Given the description of an element on the screen output the (x, y) to click on. 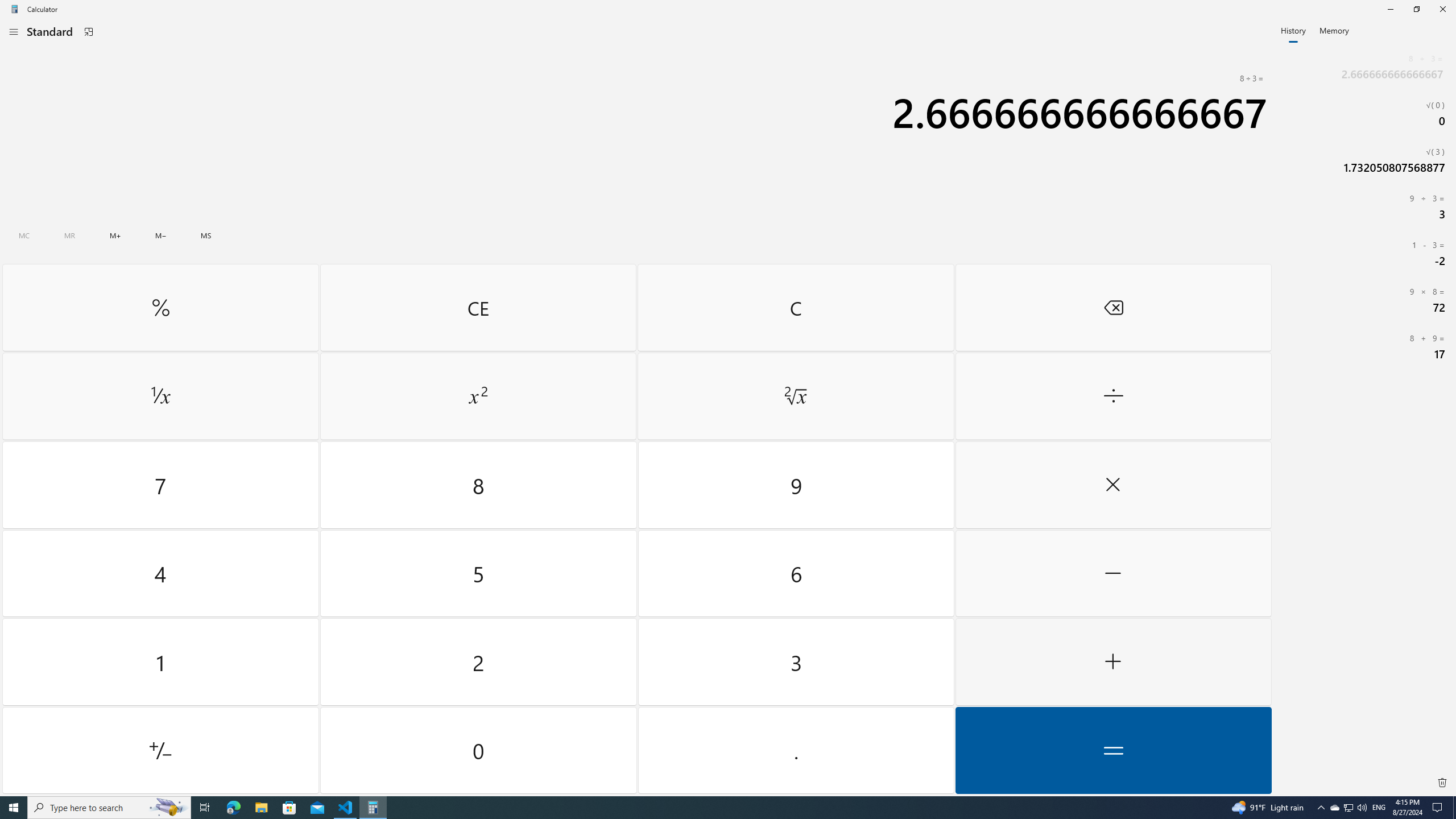
Seven (160, 485)
User Promoted Notification Area (1347, 807)
Open Navigation (13, 31)
Square root (795, 396)
Three (795, 661)
Four (160, 572)
Two (478, 661)
Square (478, 396)
Clear all history (1441, 782)
Show desktop (1454, 807)
Microsoft Store (289, 807)
Zero (478, 749)
